Given the description of an element on the screen output the (x, y) to click on. 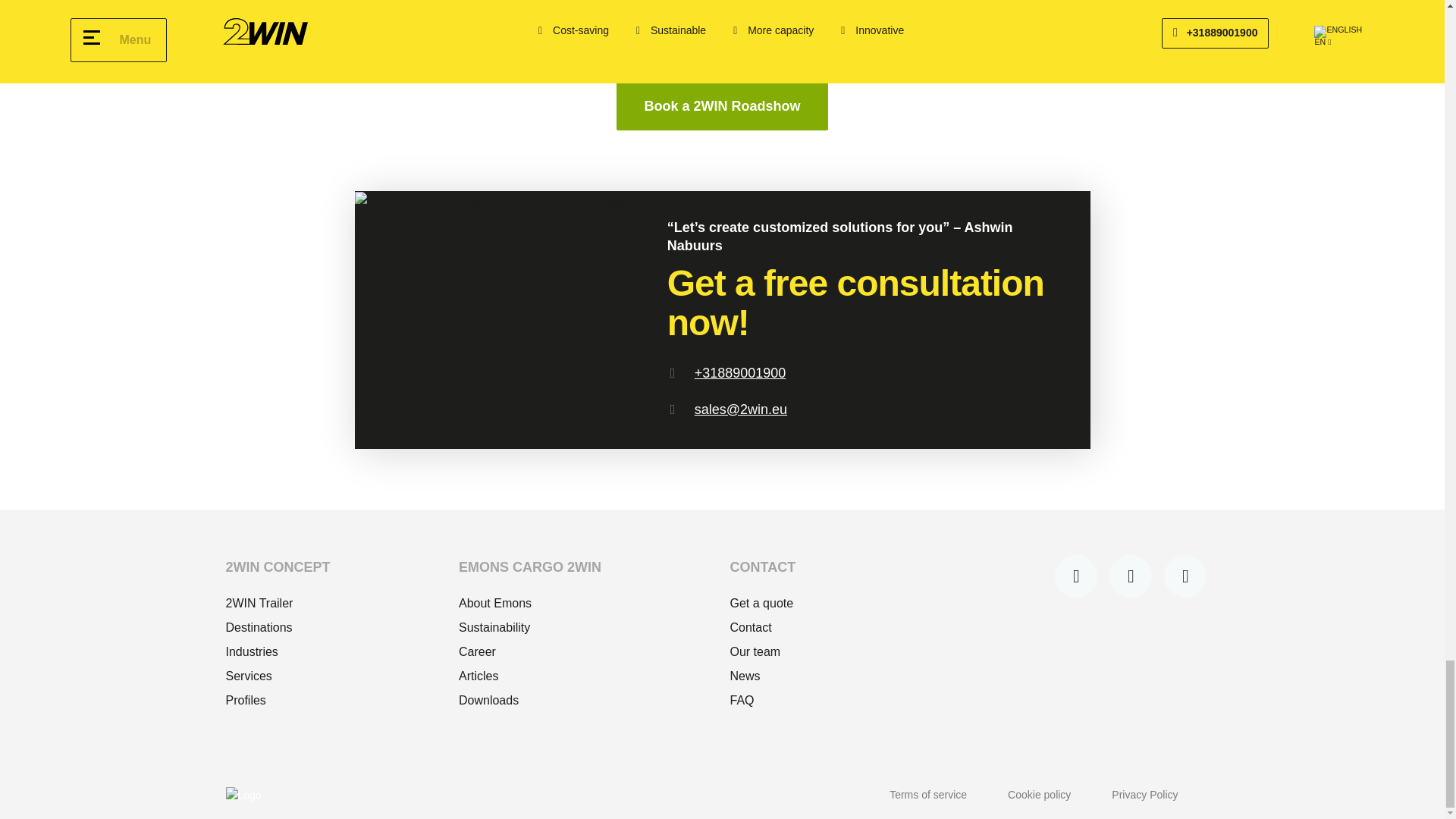
Destinations (277, 627)
2WIN Trailer (277, 603)
2WIN Trailer (277, 603)
Destinations (277, 627)
Profiles (277, 700)
Profiles (277, 700)
Career (529, 651)
Industries (277, 651)
Industries (277, 651)
Sustainability (529, 627)
Services (277, 676)
About Emons (529, 603)
Services (277, 676)
Book a 2WIN Roadshow (721, 105)
Articles (529, 676)
